Given the description of an element on the screen output the (x, y) to click on. 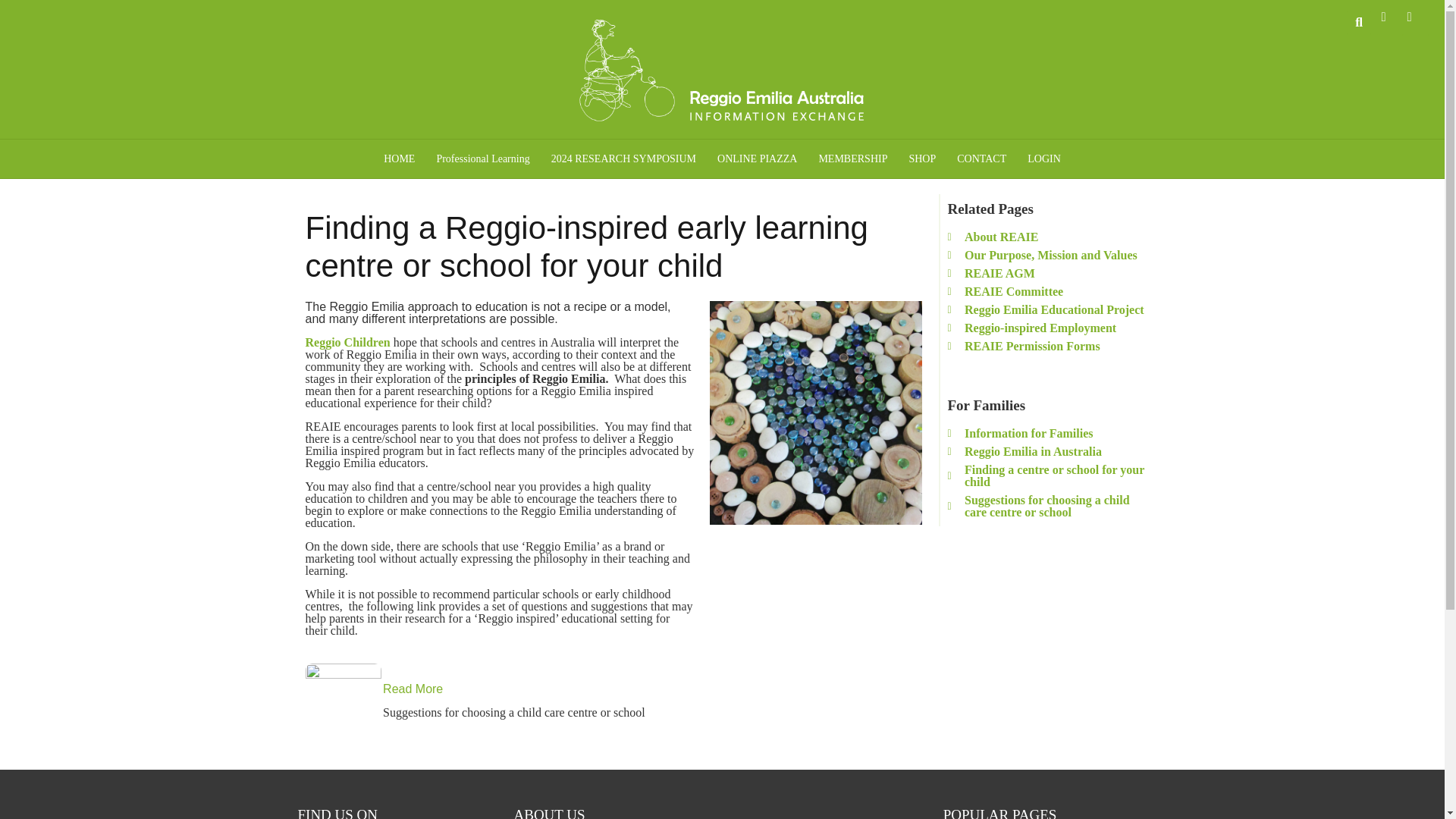
ONLINE PIAZZA (756, 159)
MEMBERSHIP (852, 159)
Professional Learning (482, 159)
HOME (398, 159)
2024 RESEARCH SYMPOSIUM (623, 159)
